Given the description of an element on the screen output the (x, y) to click on. 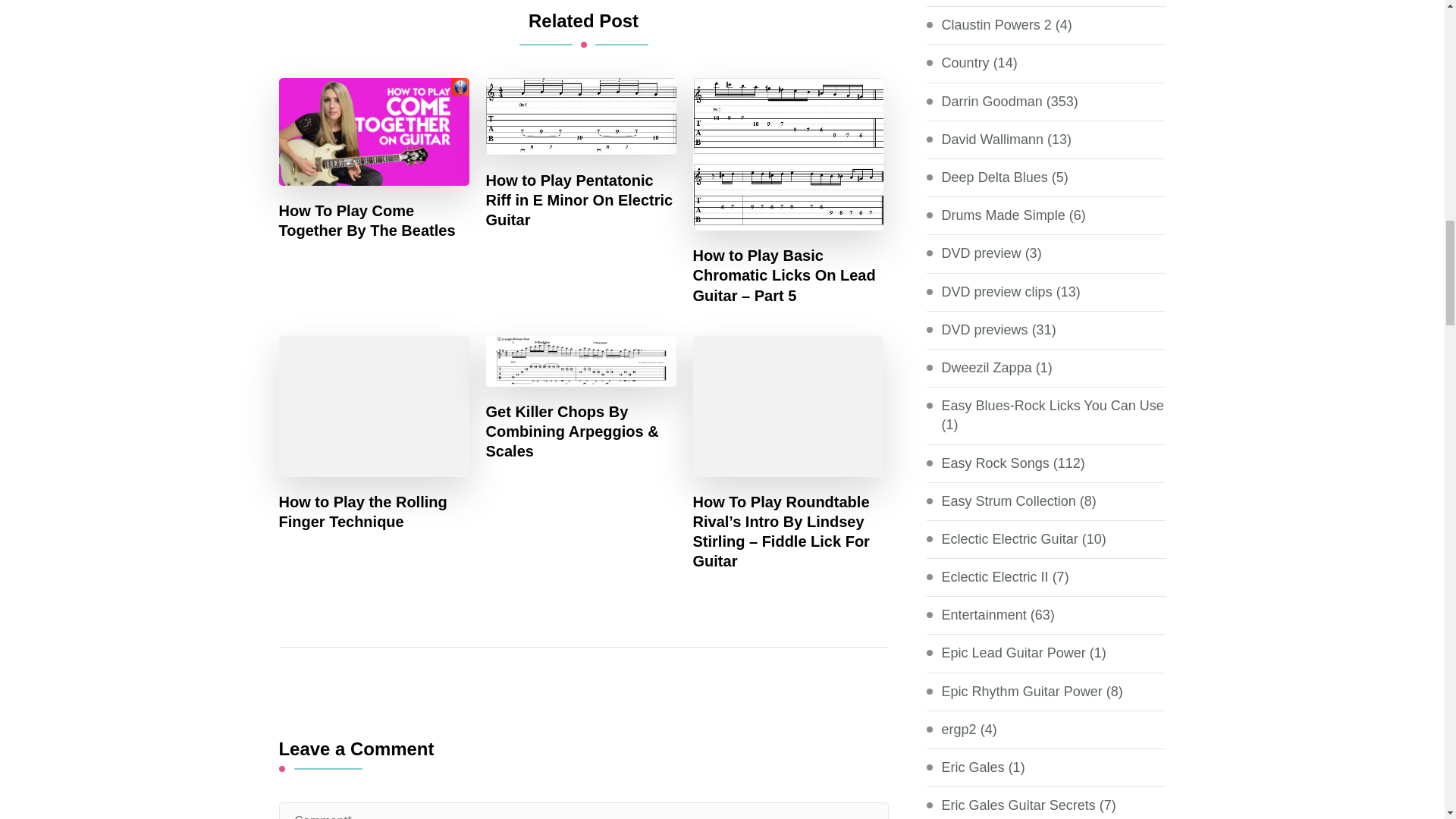
How to Play the Rolling Finger Technique (374, 511)
How To Play Come Together By The Beatles (374, 220)
How to Play Pentatonic Riff in E Minor On Electric Guitar (581, 200)
